Given the description of an element on the screen output the (x, y) to click on. 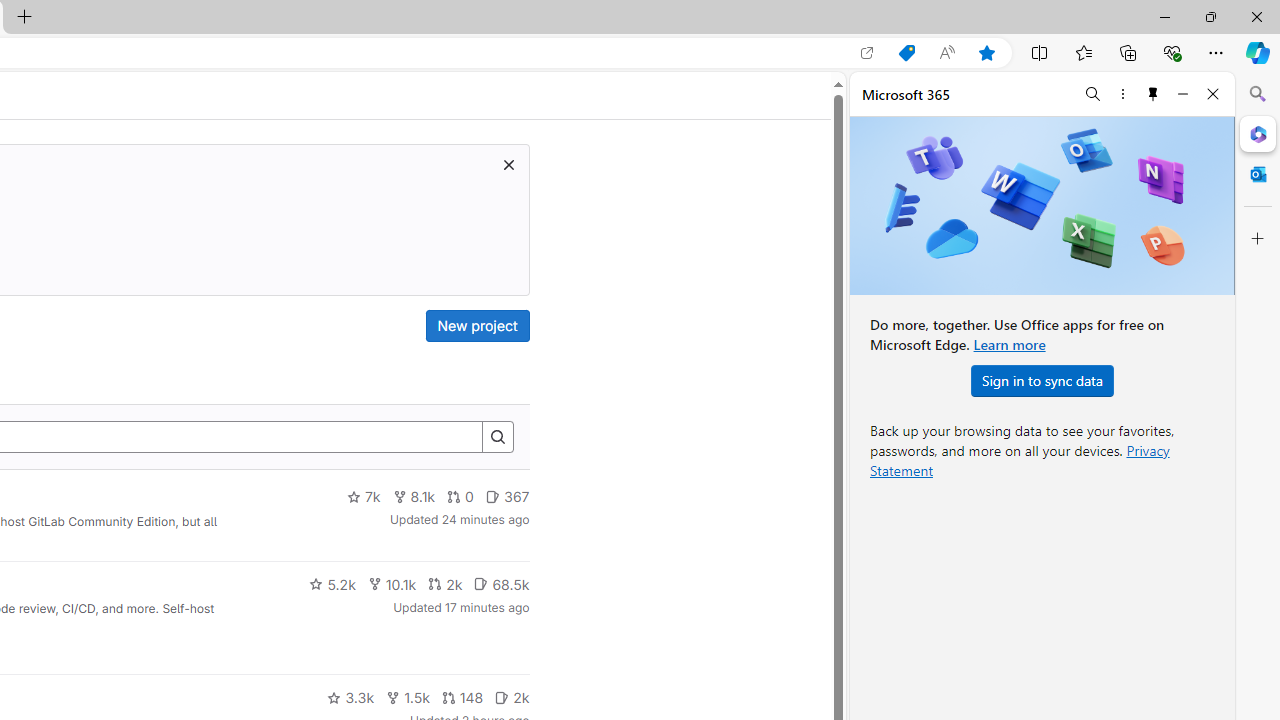
Class: s16 gl-icon gl-button-icon  (508, 164)
7k (363, 497)
68.5k (501, 583)
3.3k (350, 697)
148 (462, 697)
Dismiss trial promotion (508, 164)
